Given the description of an element on the screen output the (x, y) to click on. 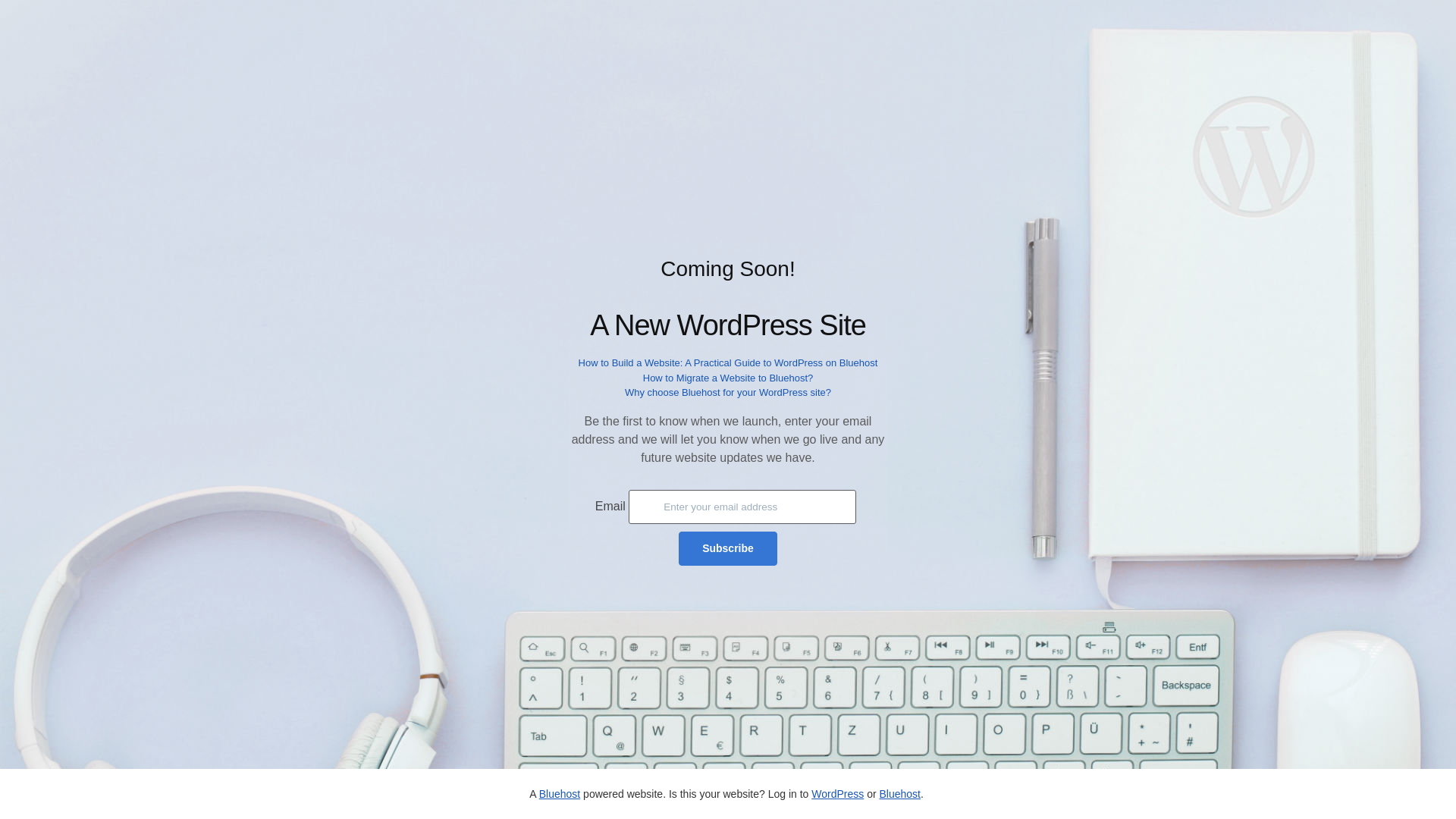
Bluehost (558, 793)
WordPress (836, 793)
Why choose Bluehost for your WordPress site? (727, 392)
Bluehost (899, 793)
Subscribe (727, 548)
Subscribe (727, 548)
How to Migrate a Website to Bluehost? (728, 378)
